Given the description of an element on the screen output the (x, y) to click on. 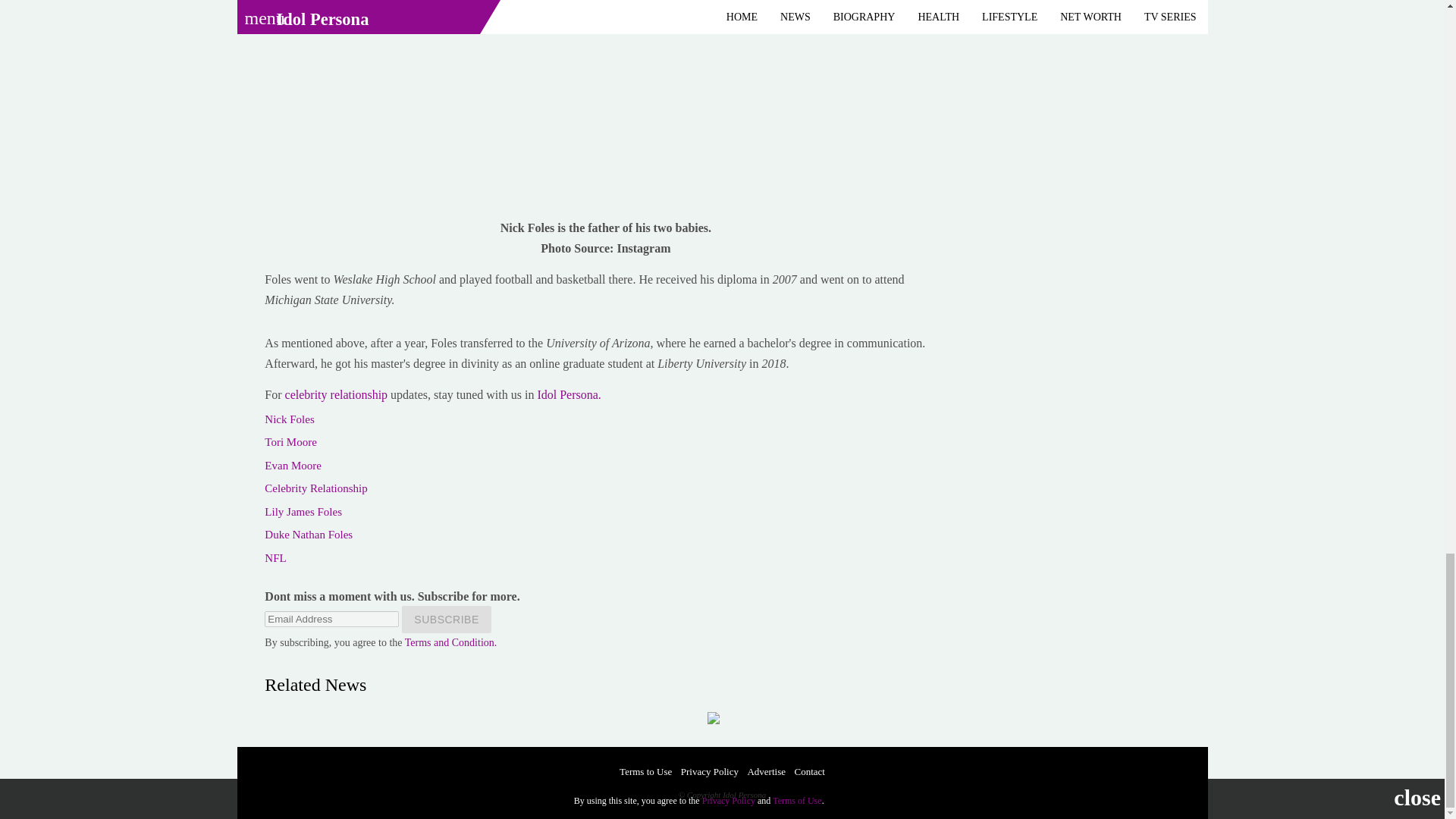
Tori Moore (290, 441)
Nick Foles (289, 419)
celebrity relationship (338, 394)
Idol Persona. (568, 394)
Evan Moore (292, 465)
